Given the description of an element on the screen output the (x, y) to click on. 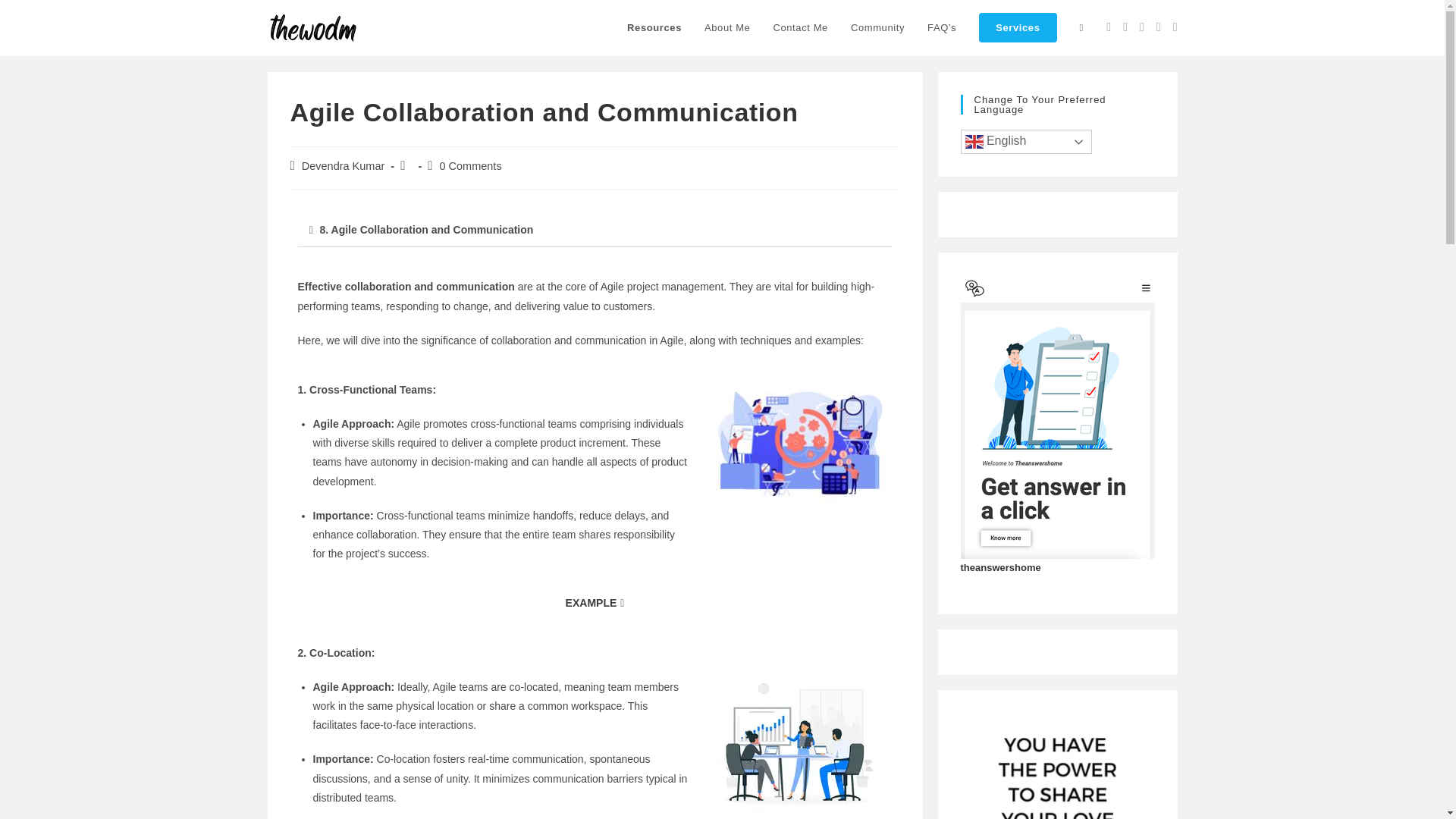
Resources (654, 28)
Posts by Devendra Kumar (343, 165)
